Given the description of an element on the screen output the (x, y) to click on. 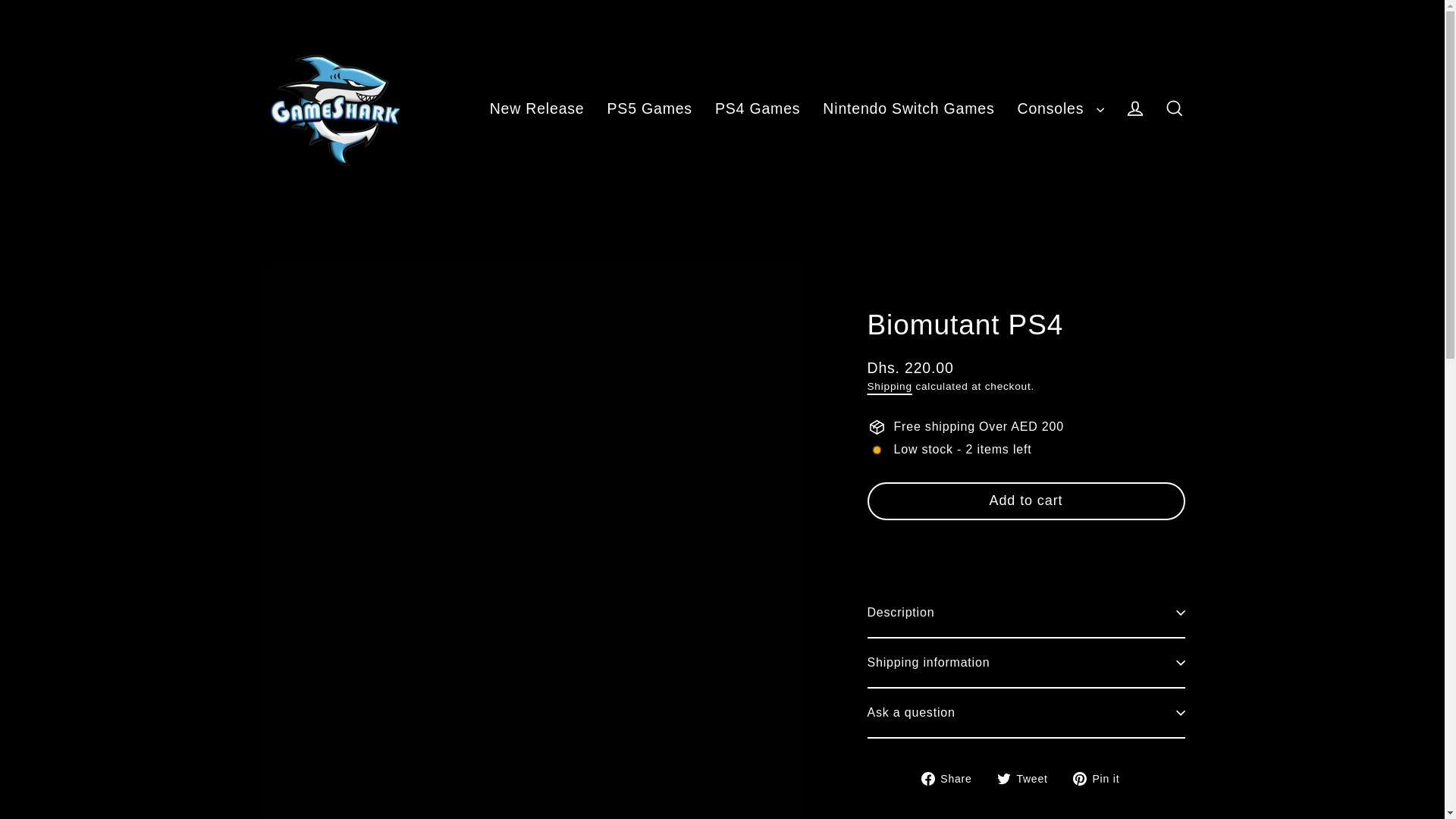
Add to cart (1026, 501)
Tweet on Twitter (1028, 778)
PS4 Games (756, 108)
Pin on Pinterest (1102, 778)
Log in (1134, 108)
Description (1026, 612)
twitter (1003, 778)
Share on Facebook (952, 778)
Shipping information (1026, 662)
Nintendo Switch Games (908, 108)
